Given the description of an element on the screen output the (x, y) to click on. 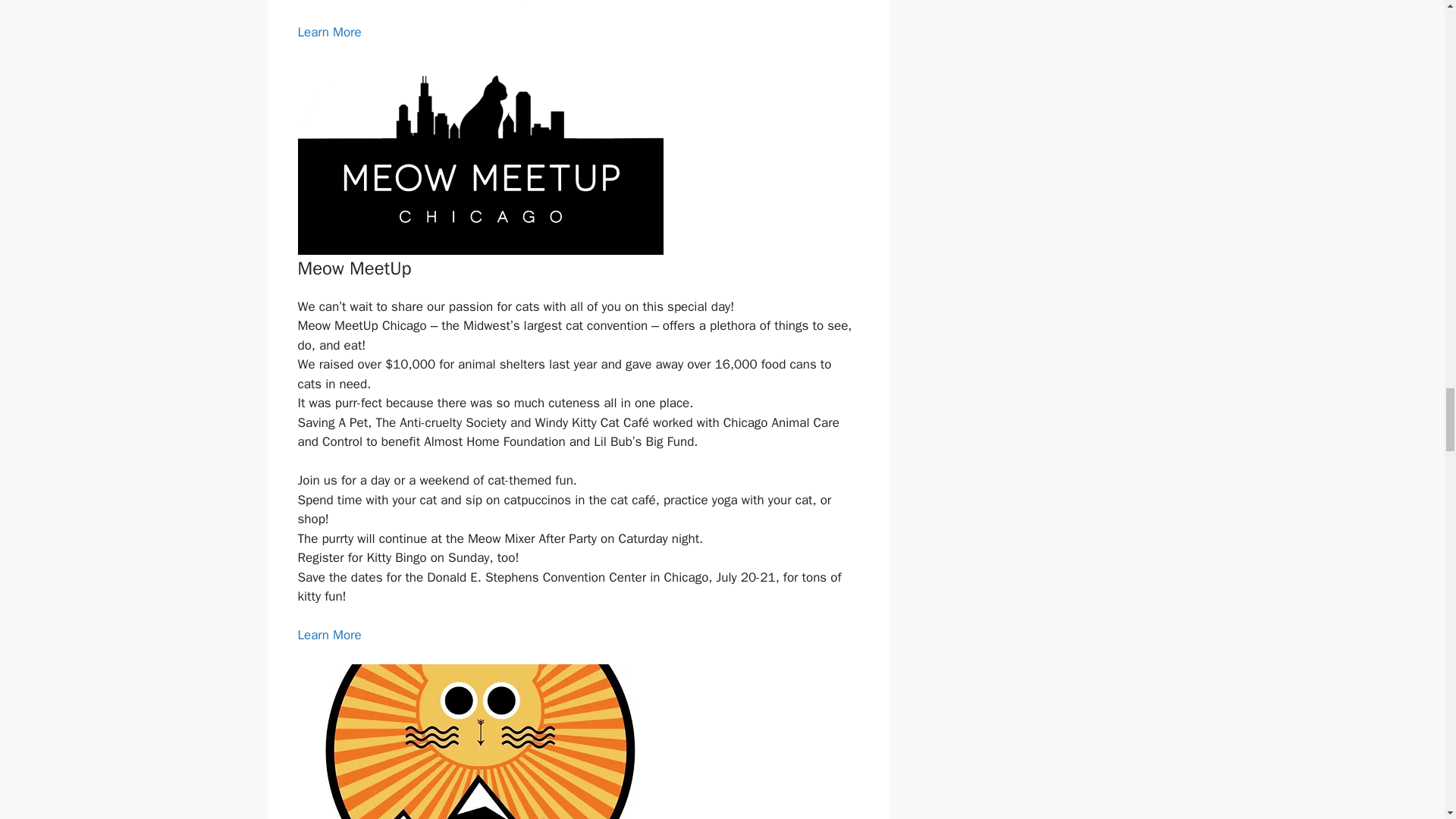
Learn More (329, 634)
Learn More (329, 32)
